Given the description of an element on the screen output the (x, y) to click on. 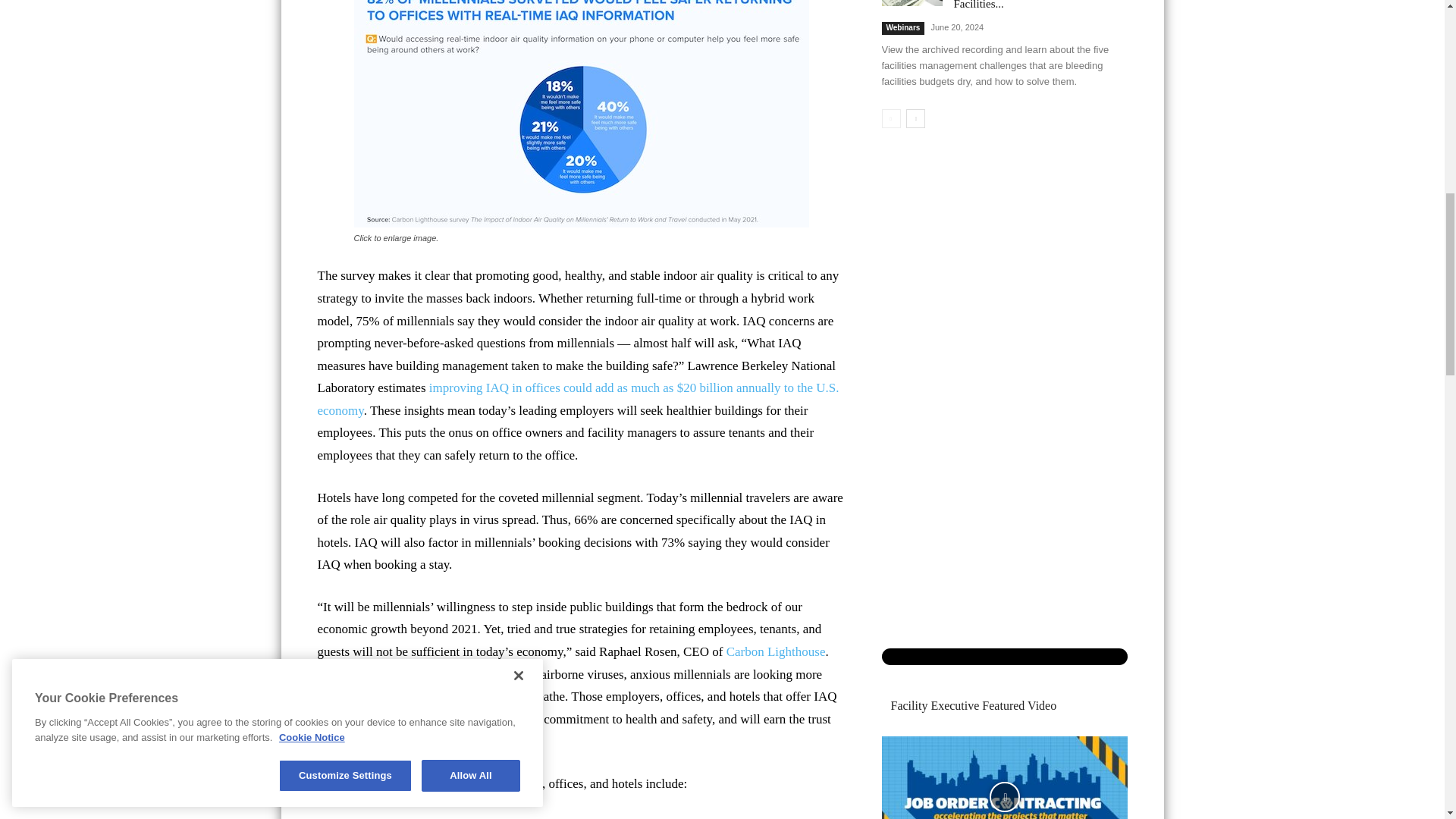
3rd party ad content (721, 38)
